Given the description of an element on the screen output the (x, y) to click on. 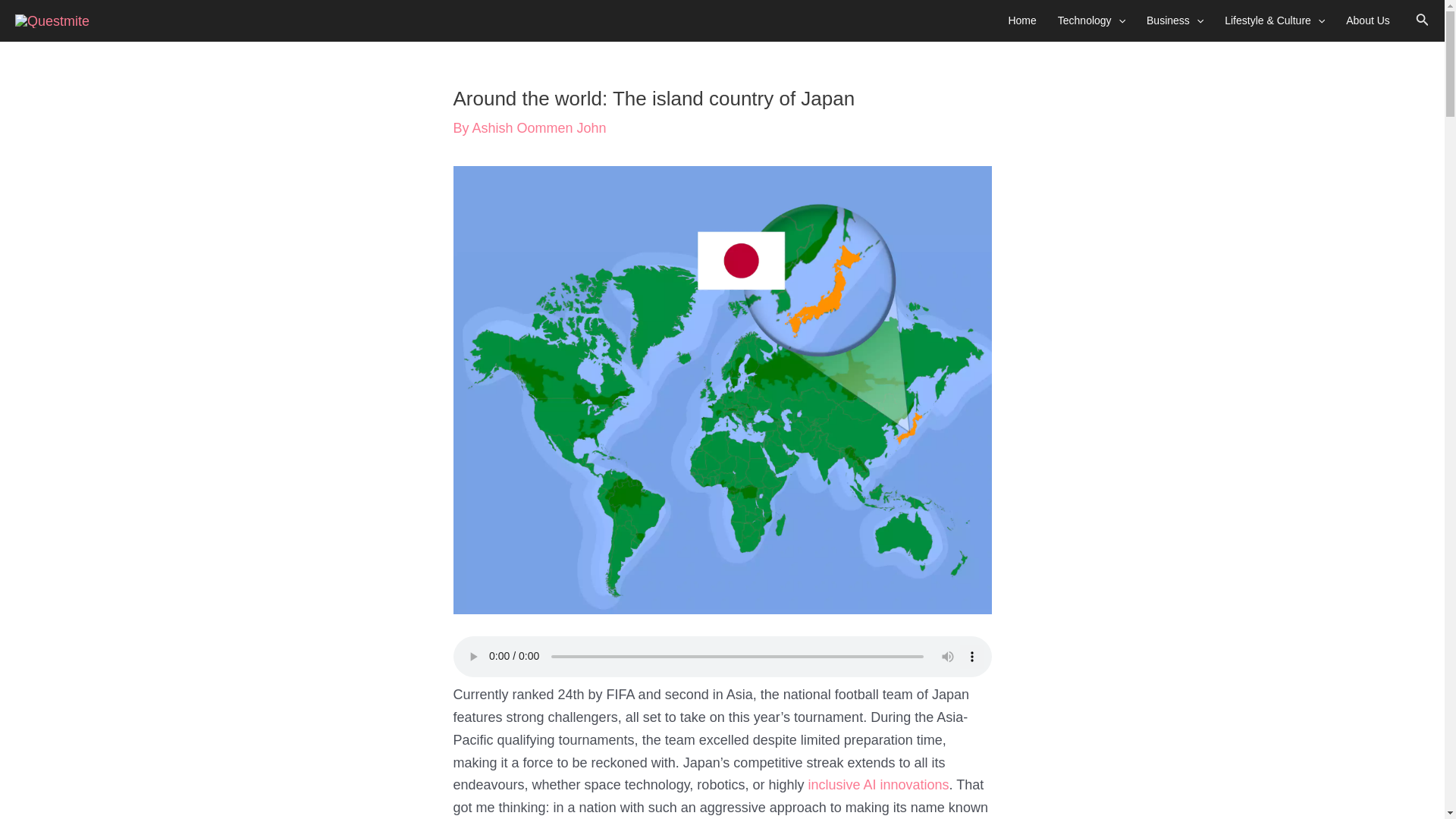
View all posts by Ashish Oommen John (539, 127)
About Us (1367, 20)
Business (1174, 20)
Technology (1090, 20)
Home (1021, 20)
